Given the description of an element on the screen output the (x, y) to click on. 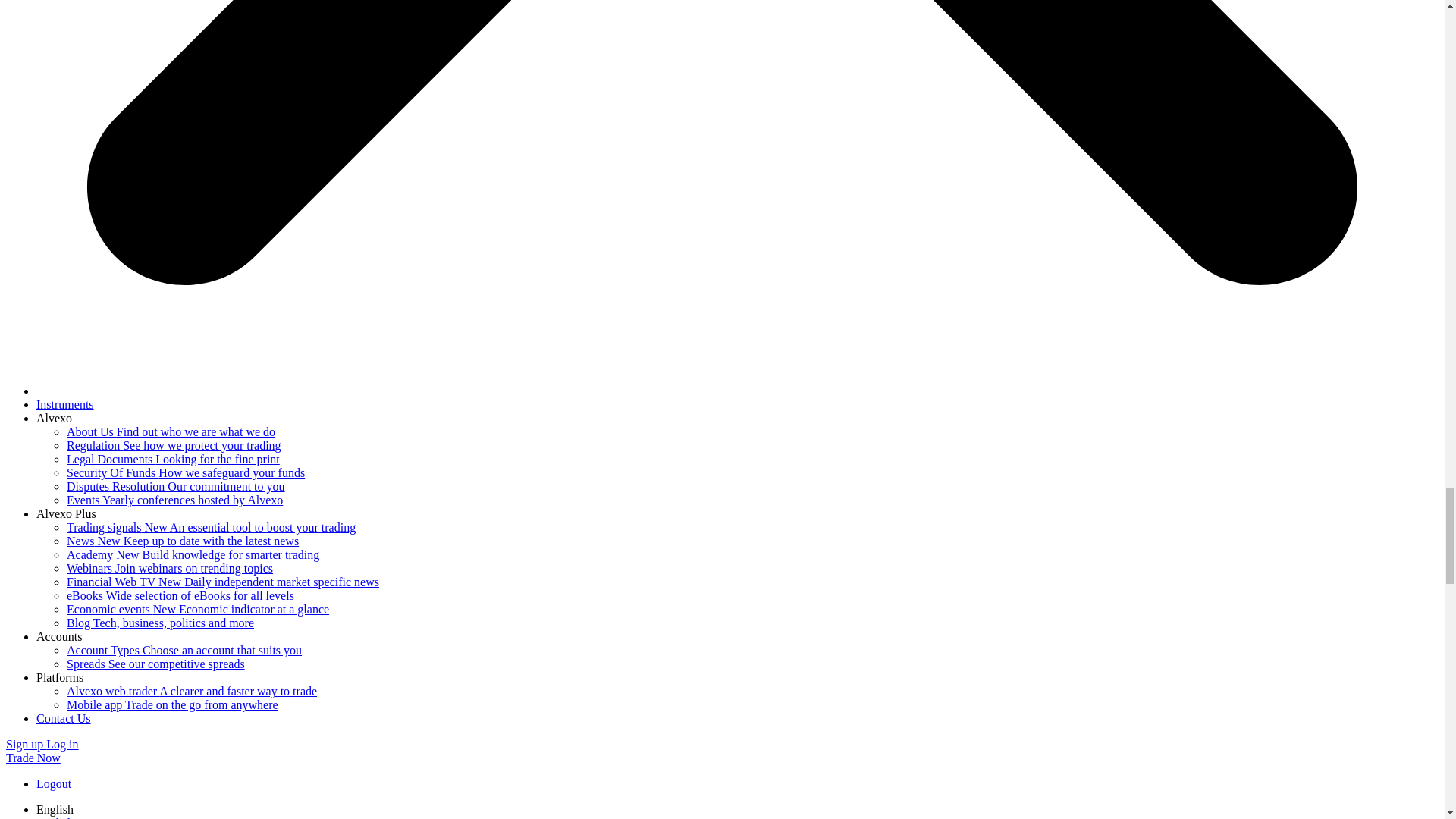
Trade Now (33, 757)
Account Types Choose an account that suits you (183, 649)
Mobile app Trade on the go from anywhere (172, 704)
Regulation See how we protect your trading (173, 445)
Legal Documents Looking for the fine print (172, 459)
Platforms (59, 676)
Contact Us (63, 717)
Academy New Build knowledge for smarter trading (192, 554)
eBooks Wide selection of eBooks for all levels (180, 594)
Spreads See our competitive spreads (155, 663)
Instruments (65, 404)
Sign up (25, 744)
Alvexo (53, 418)
Blog Tech, business, politics and more (159, 622)
Accounts (58, 635)
